Given the description of an element on the screen output the (x, y) to click on. 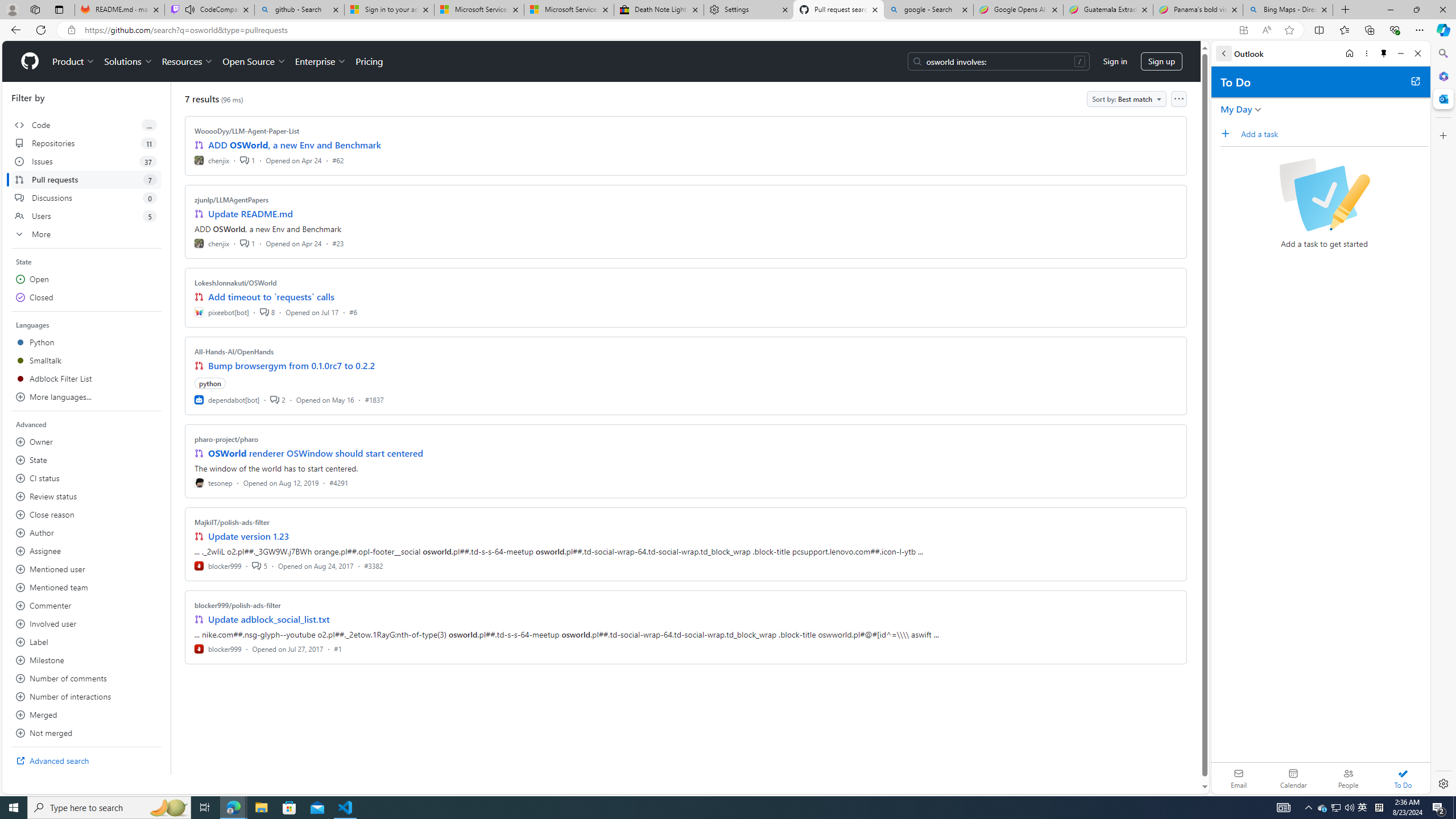
LokeshJonnakuti/OSWorld (235, 282)
Sort by: Best match (1126, 98)
Checkbox with a pencil (1324, 194)
Open column options (1178, 98)
Calendar. Date today is 22 (1293, 777)
Resources (187, 60)
#62 (337, 159)
Pricing (368, 60)
pharo-project/pharo (226, 438)
